Given the description of an element on the screen output the (x, y) to click on. 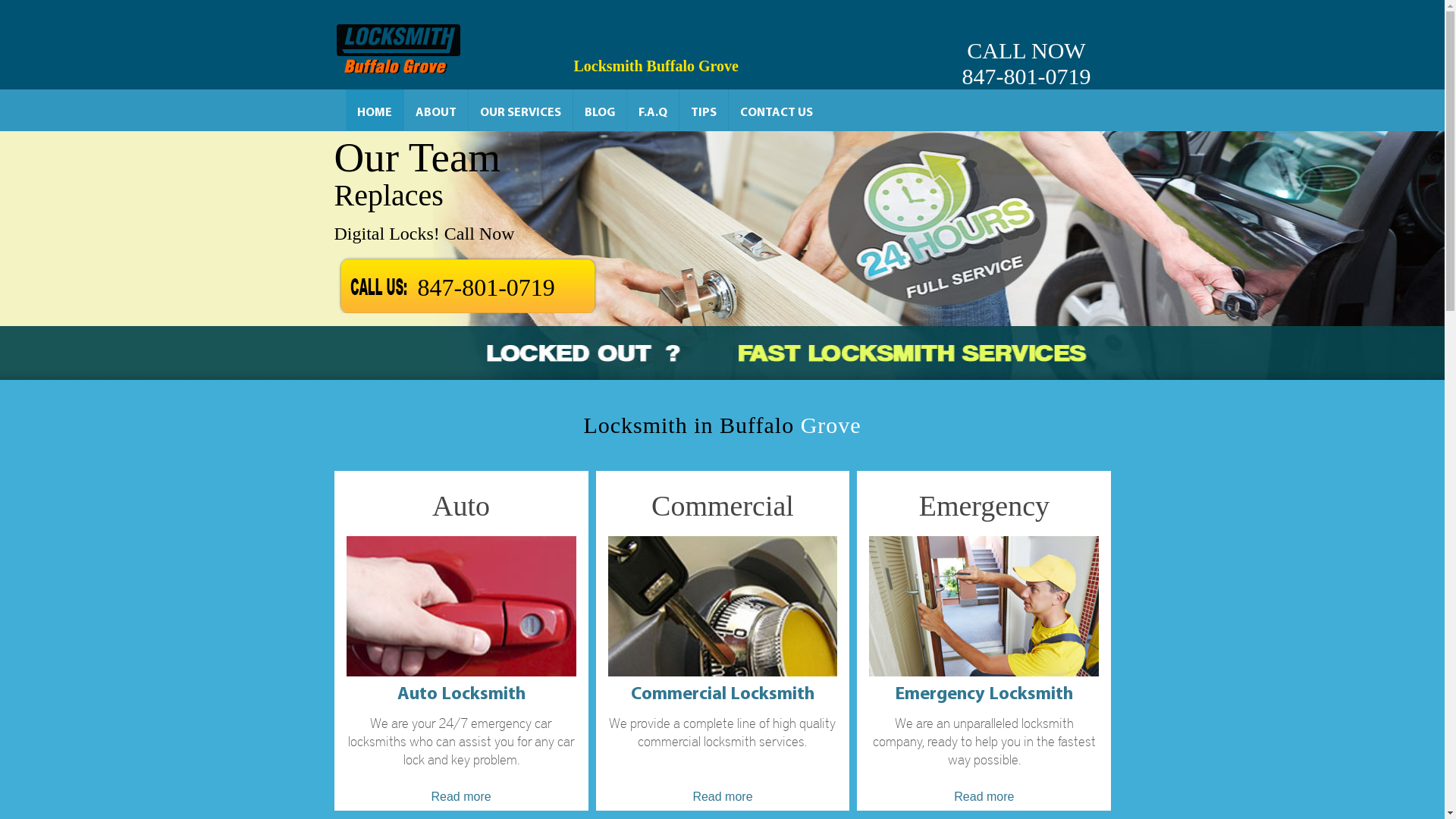
TIPS Element type: text (703, 109)
HOME Element type: text (374, 109)
BLOG Element type: text (599, 109)
CALL NOW
847-801-0719 Element type: text (1025, 44)
ABOUT Element type: text (435, 109)
F.A.Q Element type: text (651, 109)
847-801-0719 Element type: text (485, 282)
OUR SERVICES Element type: text (520, 109)
CONTACT US Element type: text (775, 109)
